Given the description of an element on the screen output the (x, y) to click on. 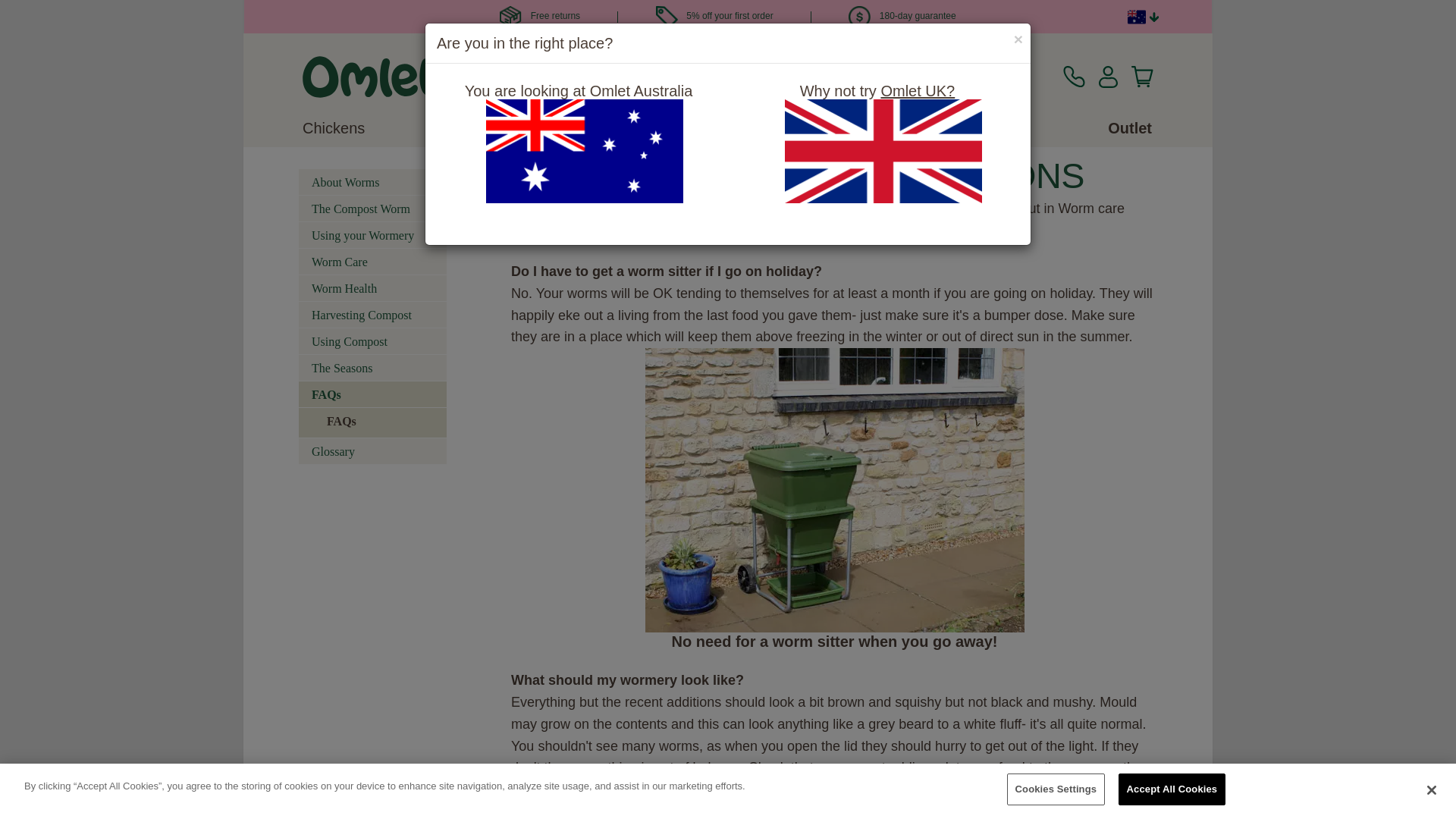
Guarantee icon (859, 16)
Contact us (1073, 76)
Australia (1135, 17)
Free returns (539, 15)
180-day guarantee (901, 15)
Discount icon (667, 16)
Accept All Cookies (1171, 789)
Shipping (510, 16)
Omlet (370, 76)
Chickens (333, 127)
Cookies Settings (1056, 789)
